Given the description of an element on the screen output the (x, y) to click on. 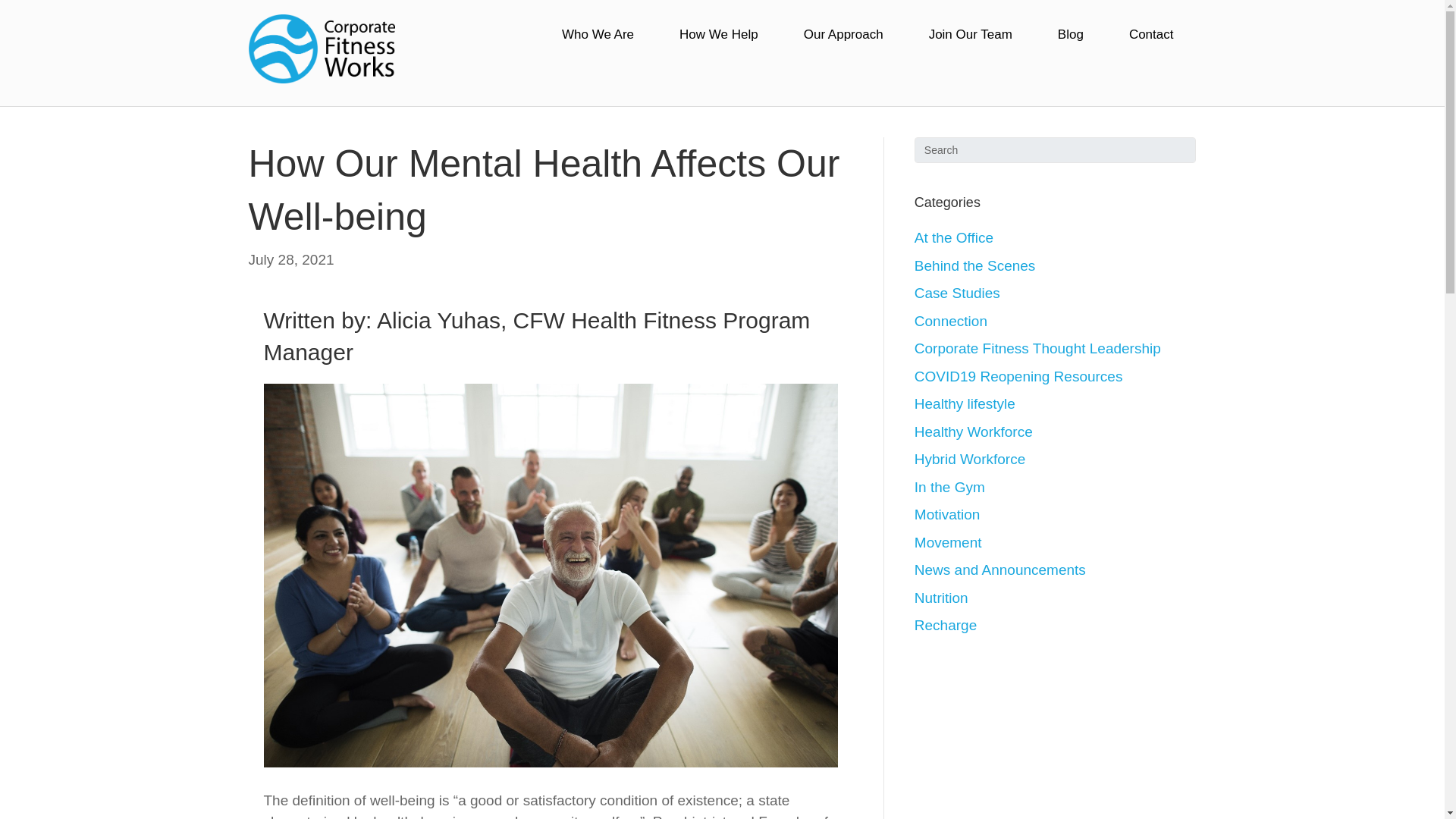
Type and press Enter to search. (1055, 149)
Search (1055, 149)
Contact (1151, 34)
Movement (947, 542)
Connection (950, 320)
News and Announcements (1000, 569)
Search (1055, 149)
Case Studies (957, 293)
Blog (1070, 34)
At the Office (953, 237)
Behind the Scenes (974, 265)
Join Our Team (970, 34)
Who We Are (597, 34)
Hybrid Workforce (969, 458)
